Given the description of an element on the screen output the (x, y) to click on. 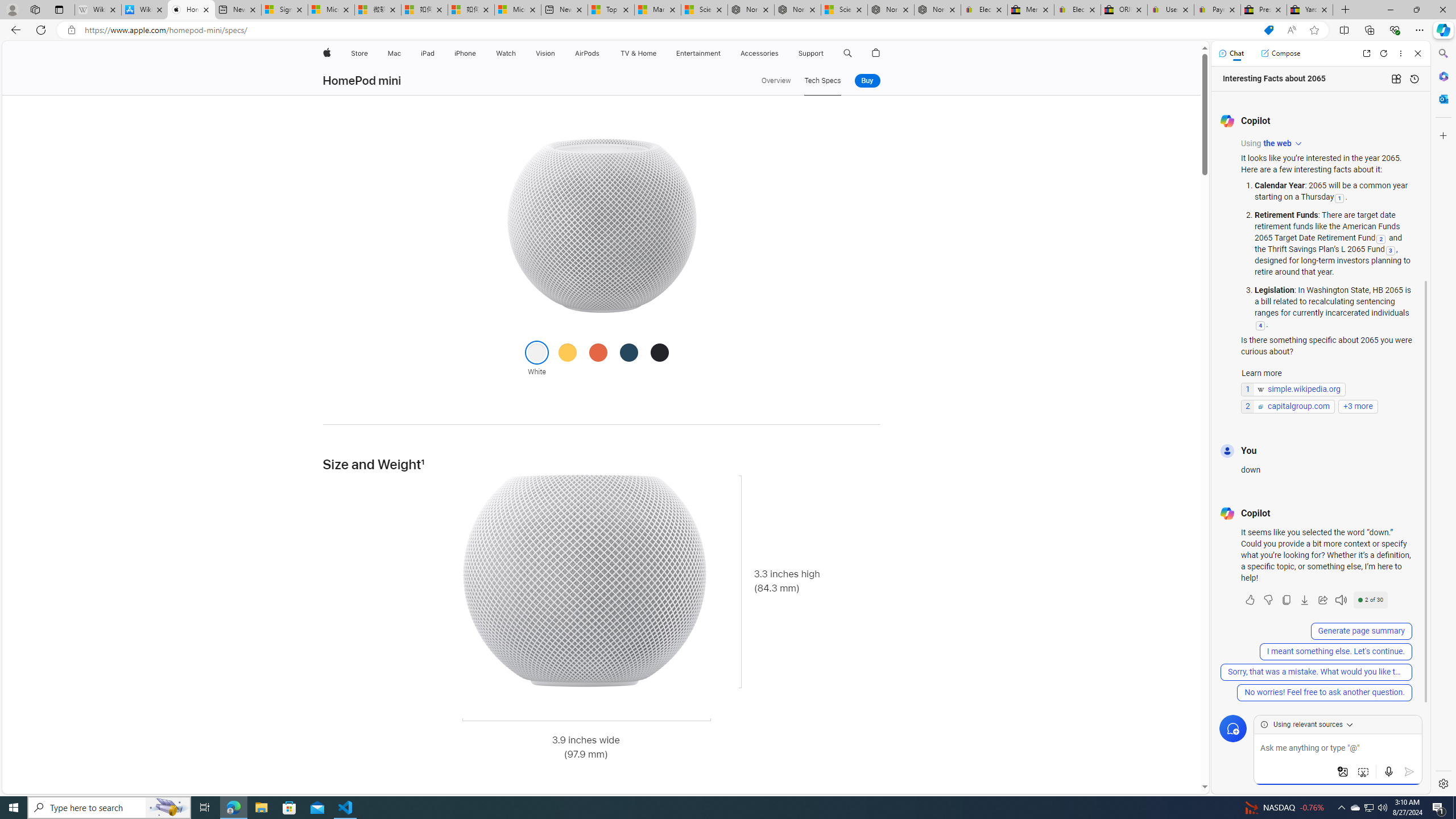
Support (810, 53)
AutomationID: globalnav-bag (876, 53)
Accessories (759, 53)
Yellow (567, 351)
AirPods (587, 53)
iPhone (464, 53)
Blue (628, 351)
